Given the description of an element on the screen output the (x, y) to click on. 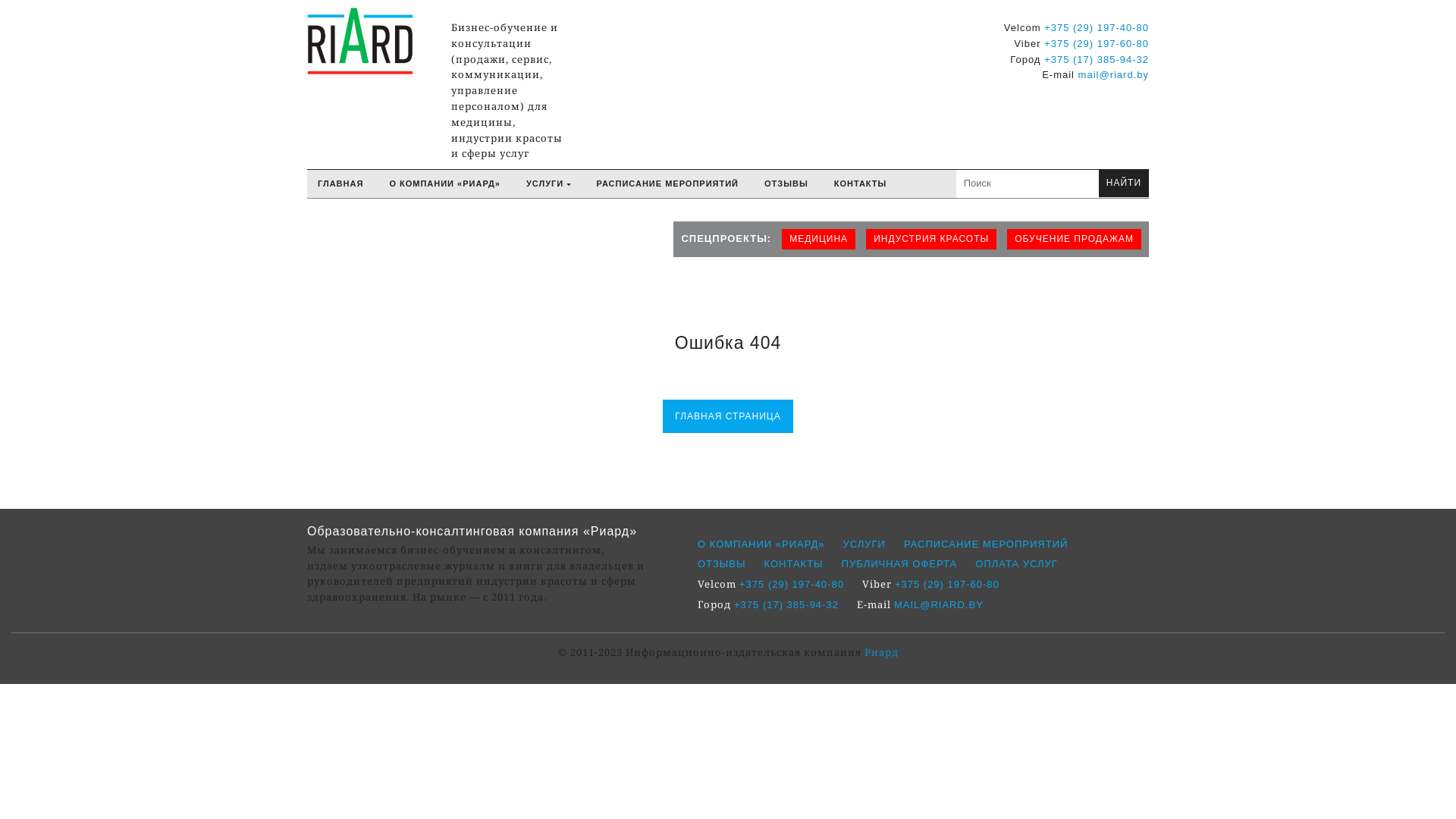
+375 (29) 197-60-80 Element type: text (946, 583)
mail@riard.by Element type: text (1113, 74)
MAIL@RIARD.BY Element type: text (938, 604)
+375 (29) 197-60-80 Element type: text (1096, 43)
+375 (17) 385-94-32 Element type: text (1096, 59)
+375 (29) 197-40-80 Element type: text (791, 583)
+375 (29) 197-40-80 Element type: text (1096, 27)
+375 (17) 385-94-32 Element type: text (786, 604)
